Given the description of an element on the screen output the (x, y) to click on. 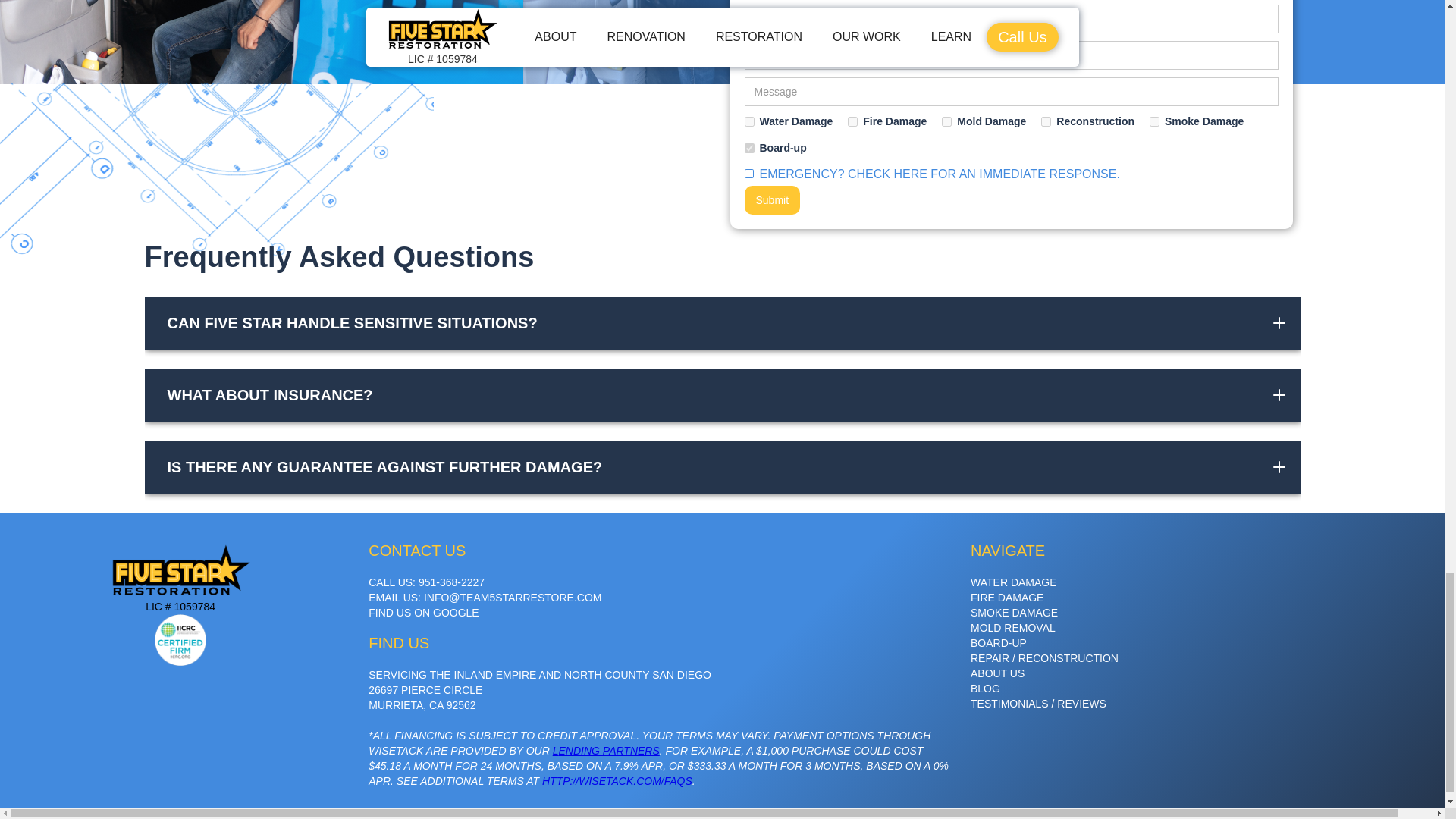
Submit (772, 199)
WATER DAMAGE (1014, 582)
on (852, 121)
951-368-2227 (451, 582)
ENDING PARTNERS (608, 750)
on (1154, 121)
on (749, 121)
on (1046, 121)
on (947, 121)
Submit (772, 199)
FIND US ON GOOGLE (423, 612)
on (749, 148)
